Given the description of an element on the screen output the (x, y) to click on. 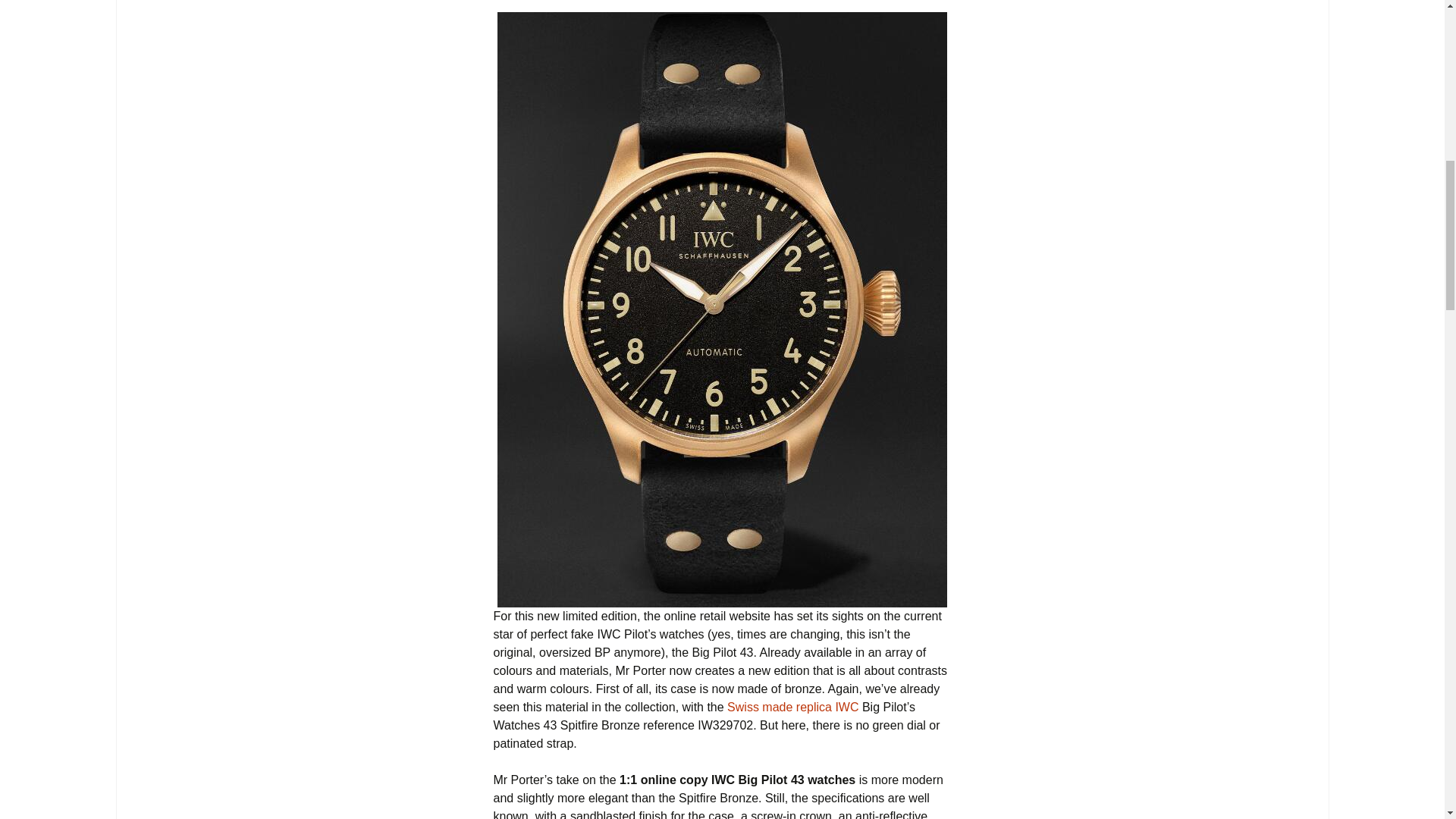
Swiss made replica IWC (792, 707)
